Given the description of an element on the screen output the (x, y) to click on. 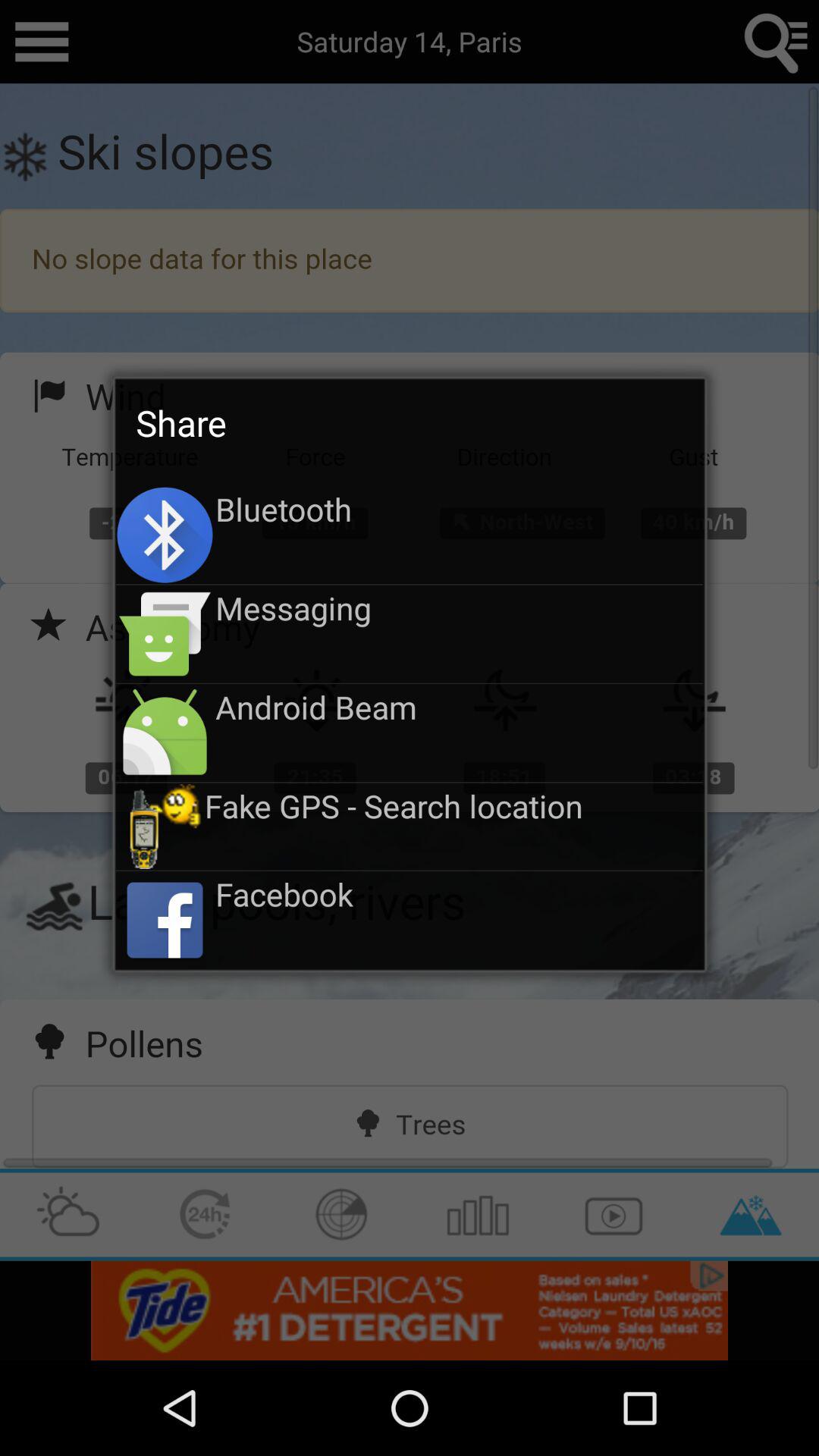
open the bluetooth app (458, 508)
